Given the description of an element on the screen output the (x, y) to click on. 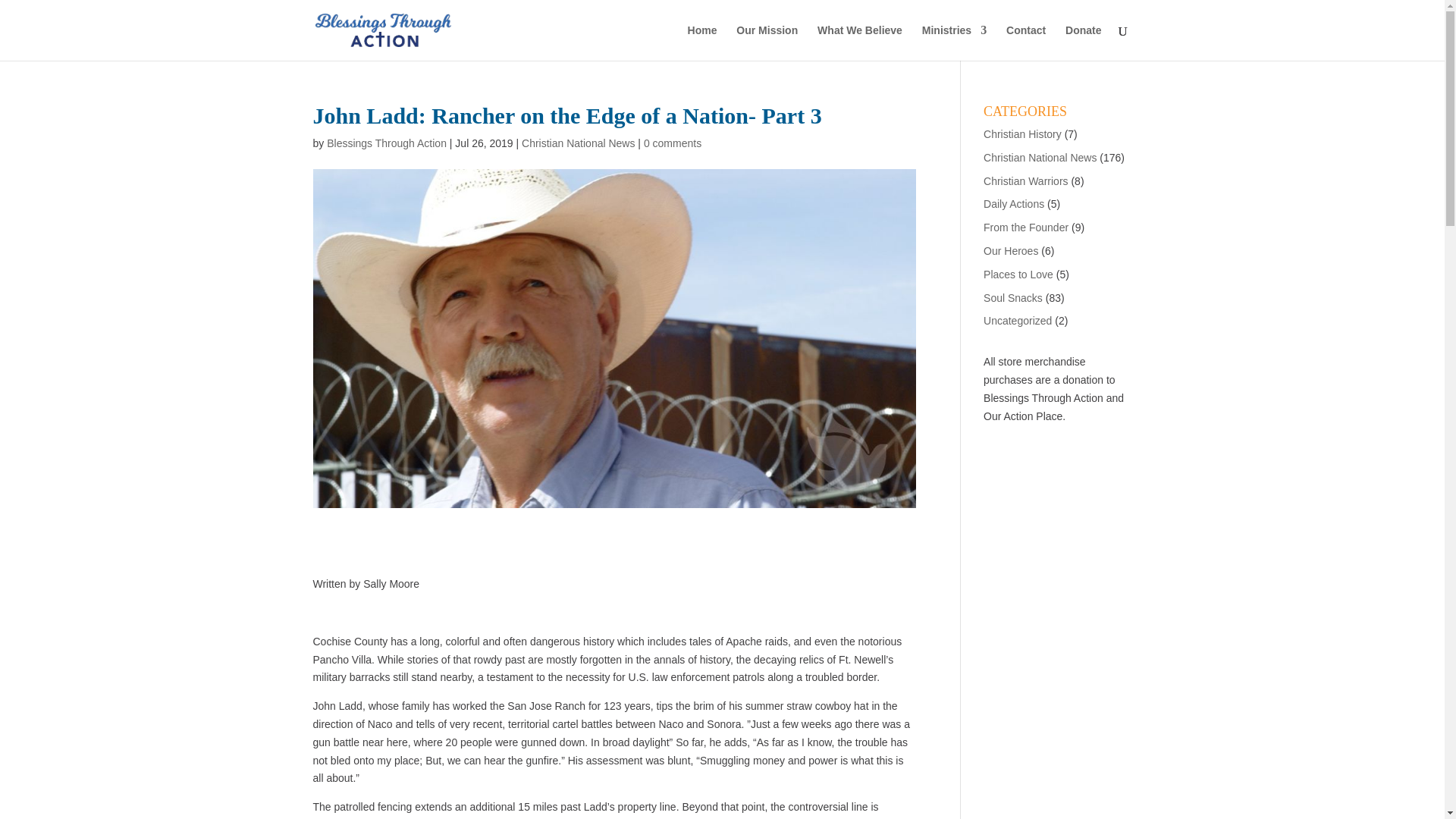
From the Founder (1026, 227)
Ministries (954, 42)
Places to Love (1018, 274)
Contact (1025, 42)
Christian National News (577, 143)
Our Mission (766, 42)
Soul Snacks (1013, 297)
Christian National News (1040, 157)
Christian History (1022, 133)
Blessings Through Action (386, 143)
